Given the description of an element on the screen output the (x, y) to click on. 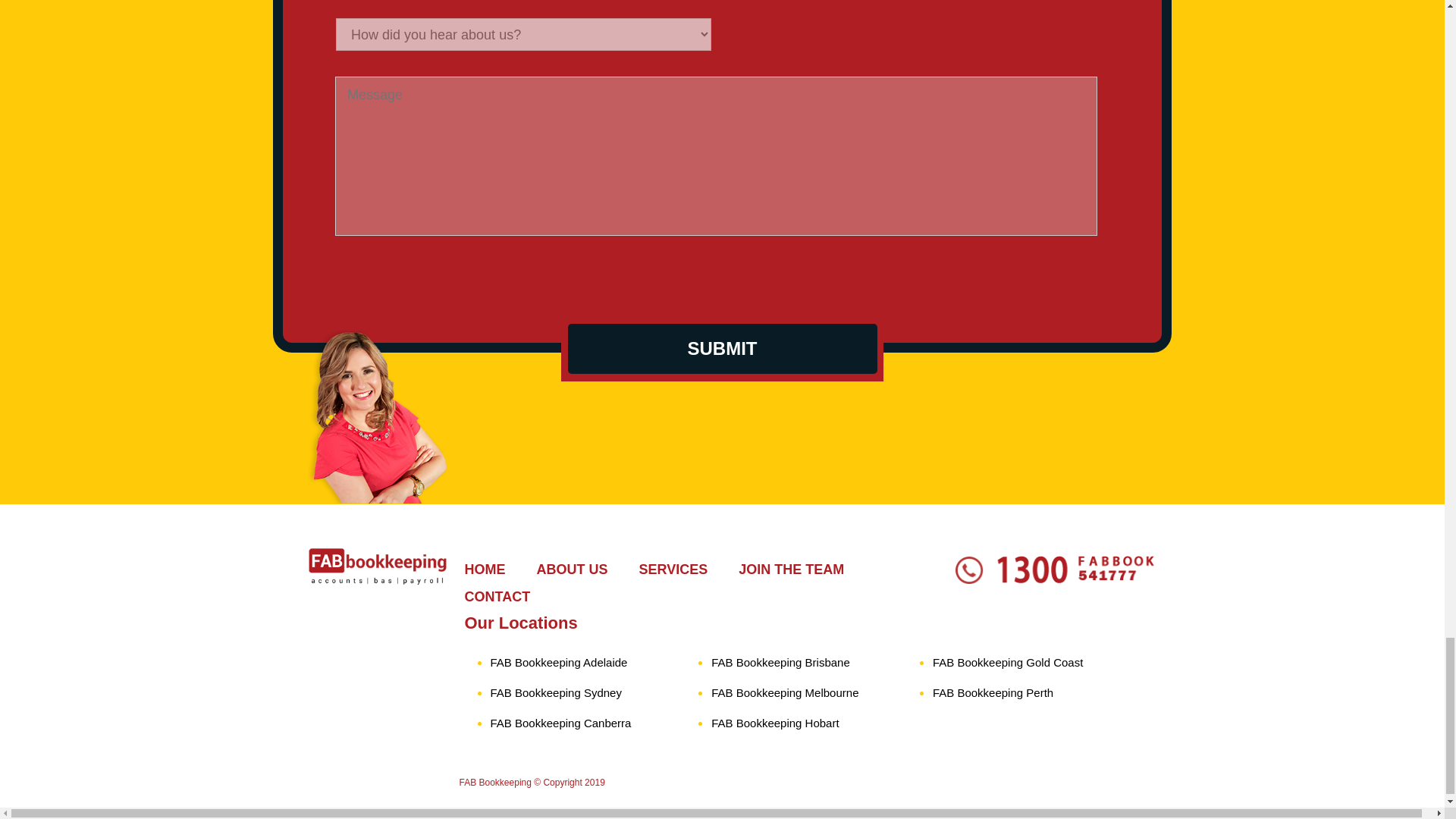
FAB Bookkeeping Canberra (559, 723)
SUBMIT (721, 348)
ABOUT US (572, 569)
FAB Bookkeeping Adelaide (558, 662)
FAB Bookkeeping (495, 782)
CONTACT (497, 596)
FAB Bookkeeping Sydney (555, 693)
HOME (484, 569)
FAB Bookkeeping Melbourne (785, 693)
FAB Bookkeeping Gold Coast (1008, 662)
